Given the description of an element on the screen output the (x, y) to click on. 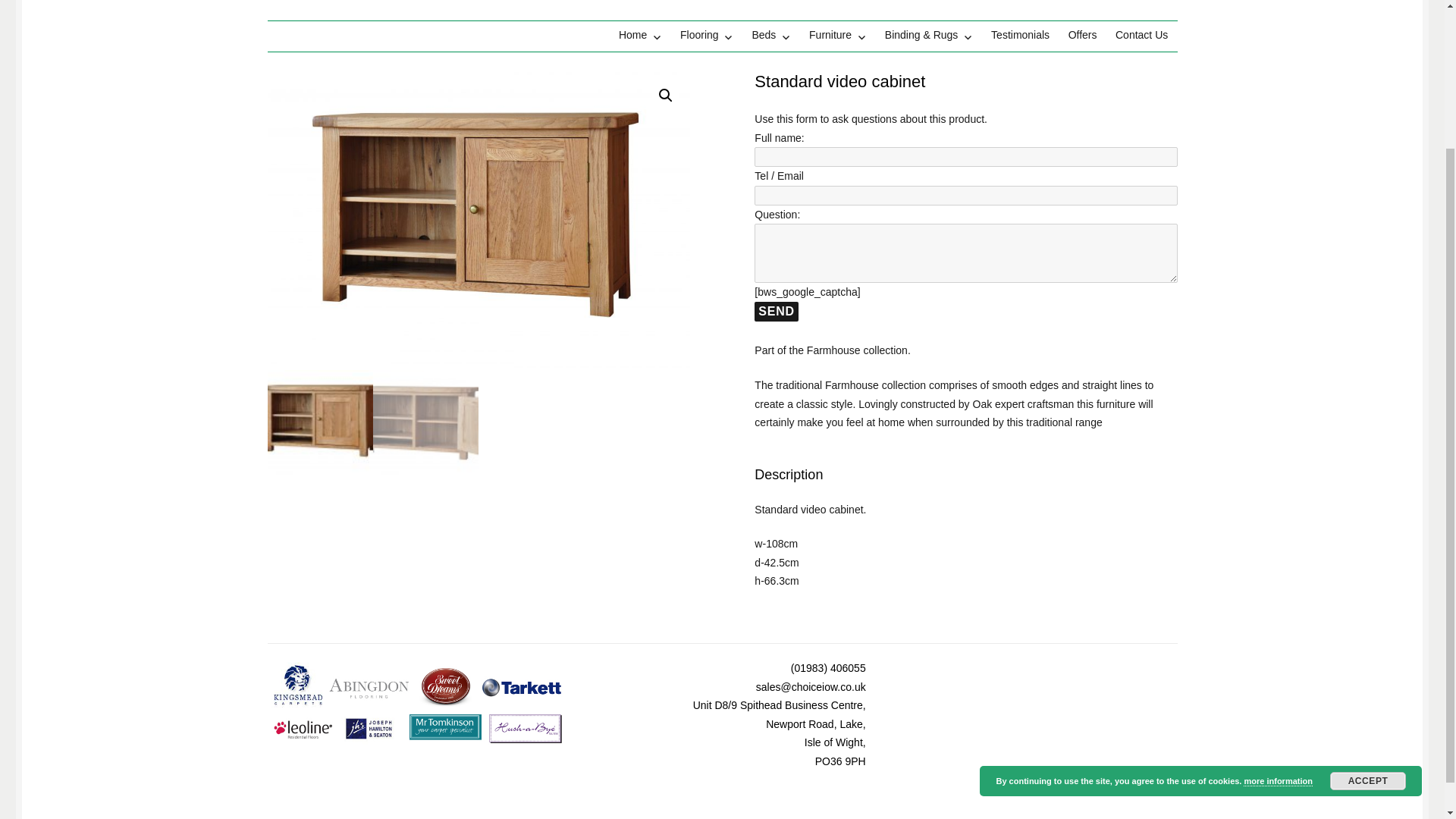
send (775, 311)
Home (640, 35)
Testimonials (1020, 35)
Flooring (706, 35)
Furniture (837, 35)
SOE20-STANDARD VIDEO CABINET 01 (477, 220)
Contact Us (1141, 35)
Beds (770, 35)
Choice Furniture and Carpets (416, 9)
Offers (1081, 35)
